Given the description of an element on the screen output the (x, y) to click on. 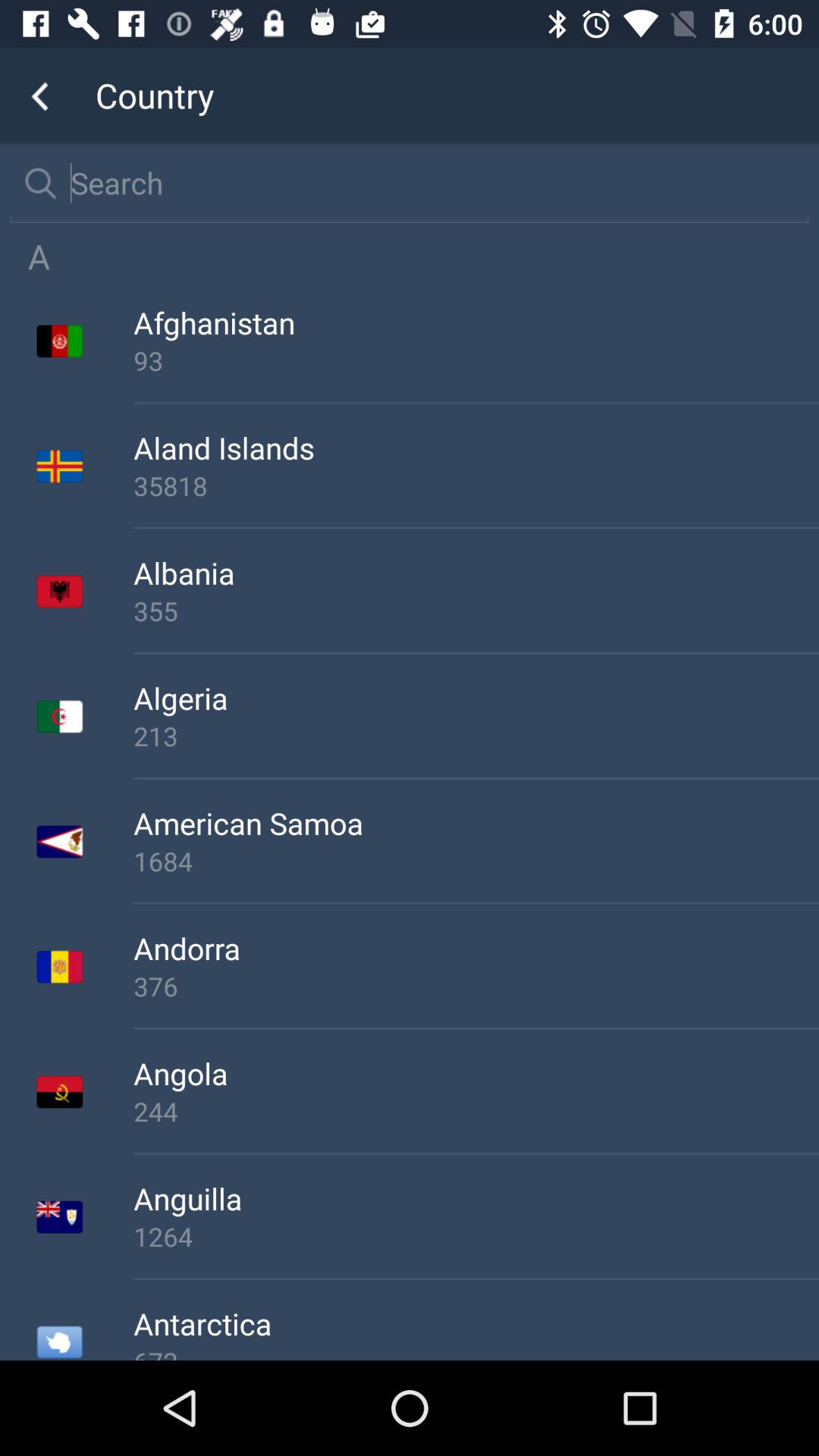
flip to 672 app (476, 1351)
